Given the description of an element on the screen output the (x, y) to click on. 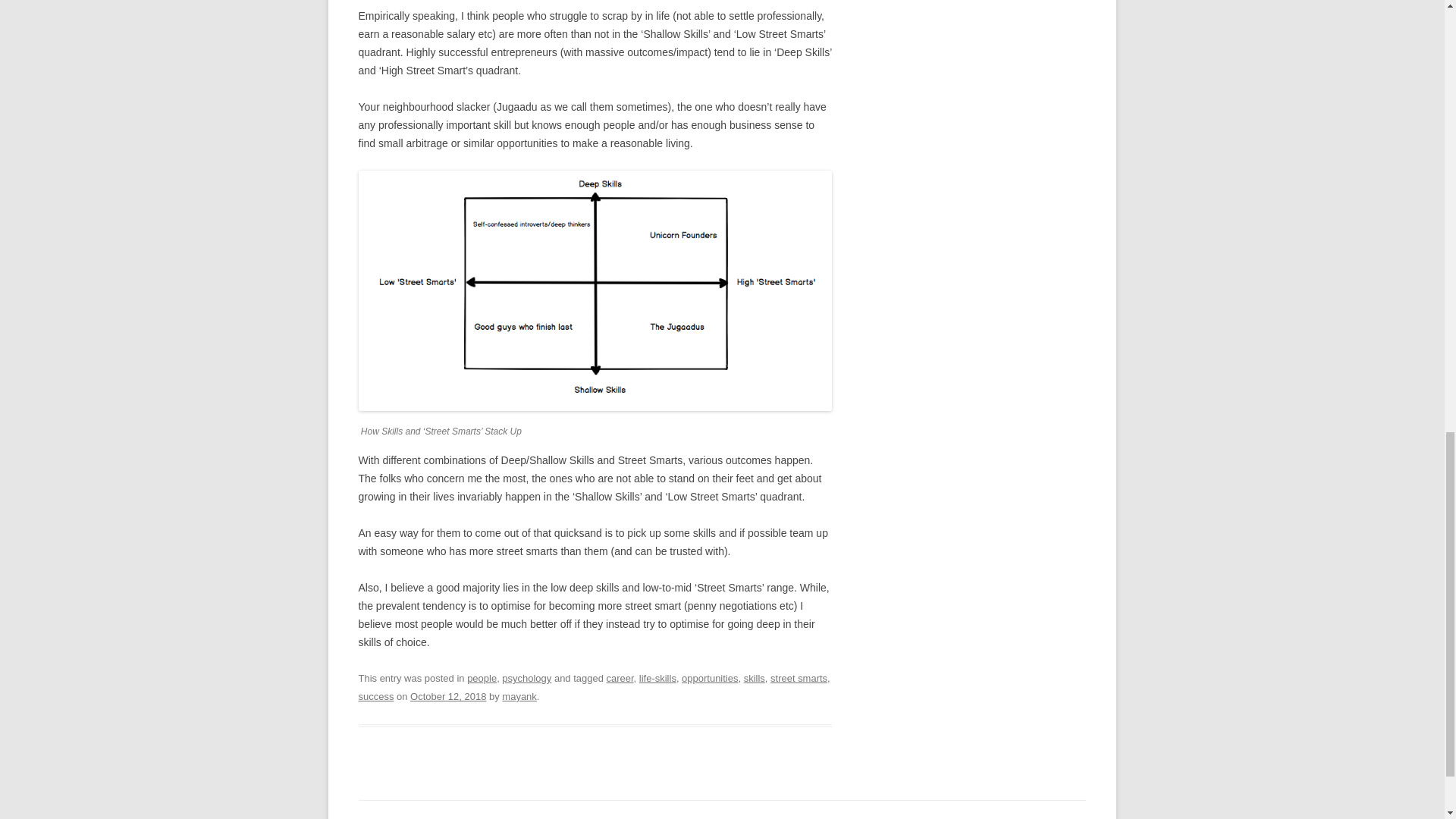
success (375, 696)
life-skills (658, 677)
11:01 am (448, 696)
skills (754, 677)
career (620, 677)
opportunities (709, 677)
psychology (526, 677)
October 12, 2018 (448, 696)
mayank (518, 696)
street smarts (798, 677)
people (481, 677)
View all posts by mayank (518, 696)
